Given the description of an element on the screen output the (x, y) to click on. 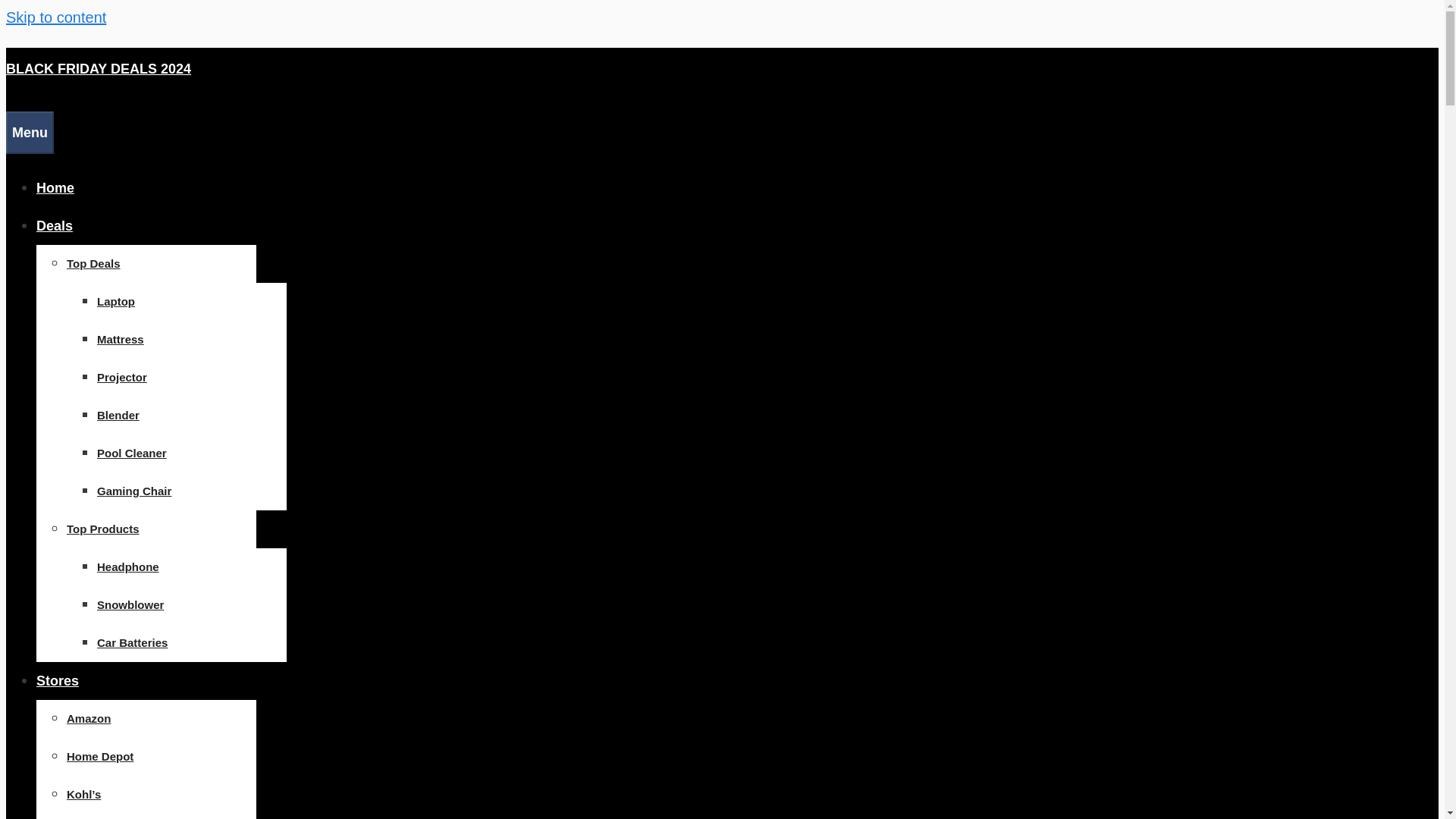
Home Depot (99, 756)
Headphone (127, 566)
BLACK FRIDAY DEALS 2024 (97, 68)
Snowblower (130, 604)
Skip to content (55, 17)
Mattress (120, 338)
Deals (54, 225)
Projector (122, 377)
Car Batteries (132, 642)
Menu (29, 132)
Stores (57, 680)
Gaming Chair (134, 490)
Blender (118, 414)
Home (55, 187)
Skip to content (55, 17)
